Given the description of an element on the screen output the (x, y) to click on. 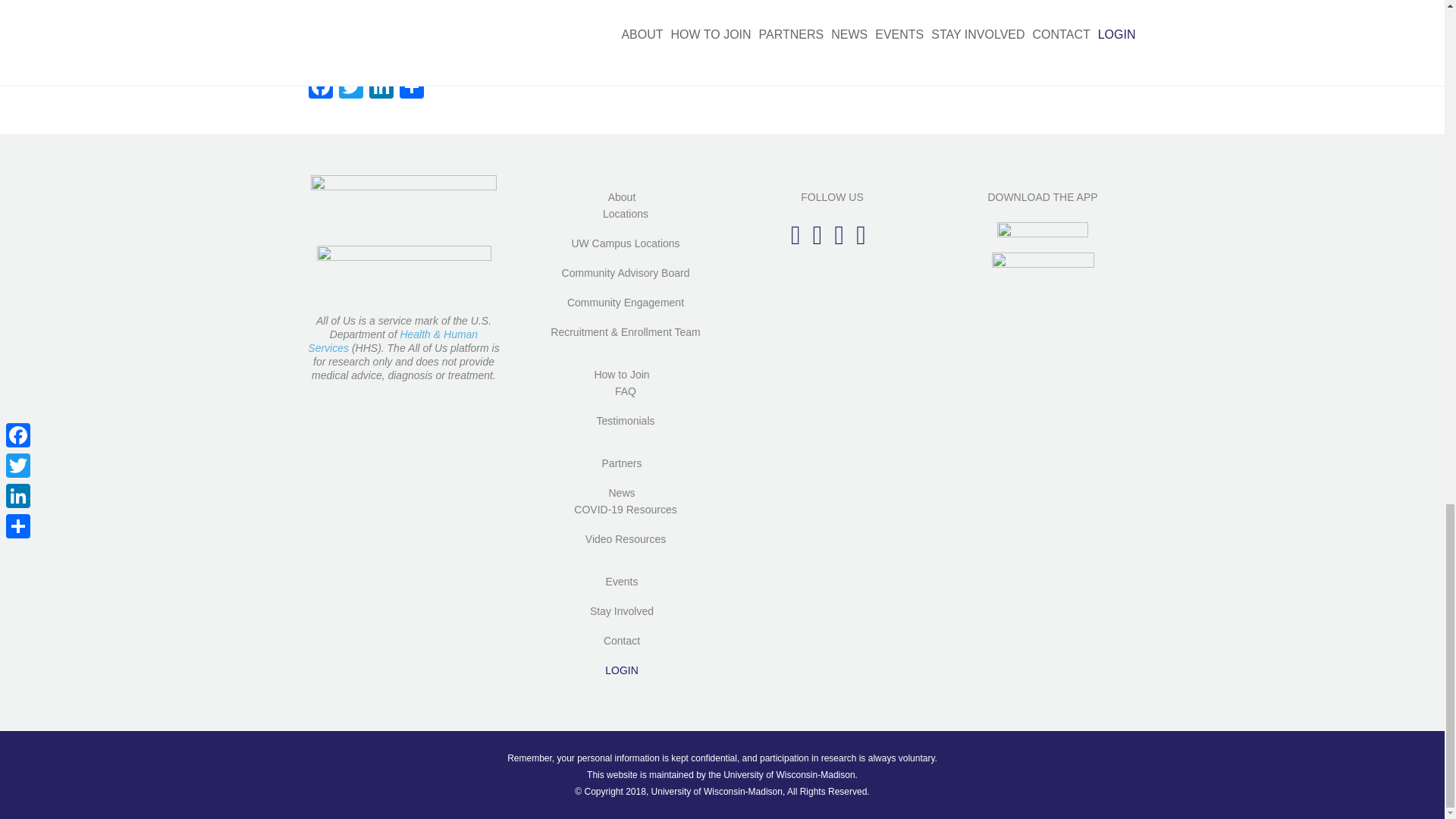
Facebook (319, 88)
Twitter (349, 88)
LinkedIn (380, 88)
